Given the description of an element on the screen output the (x, y) to click on. 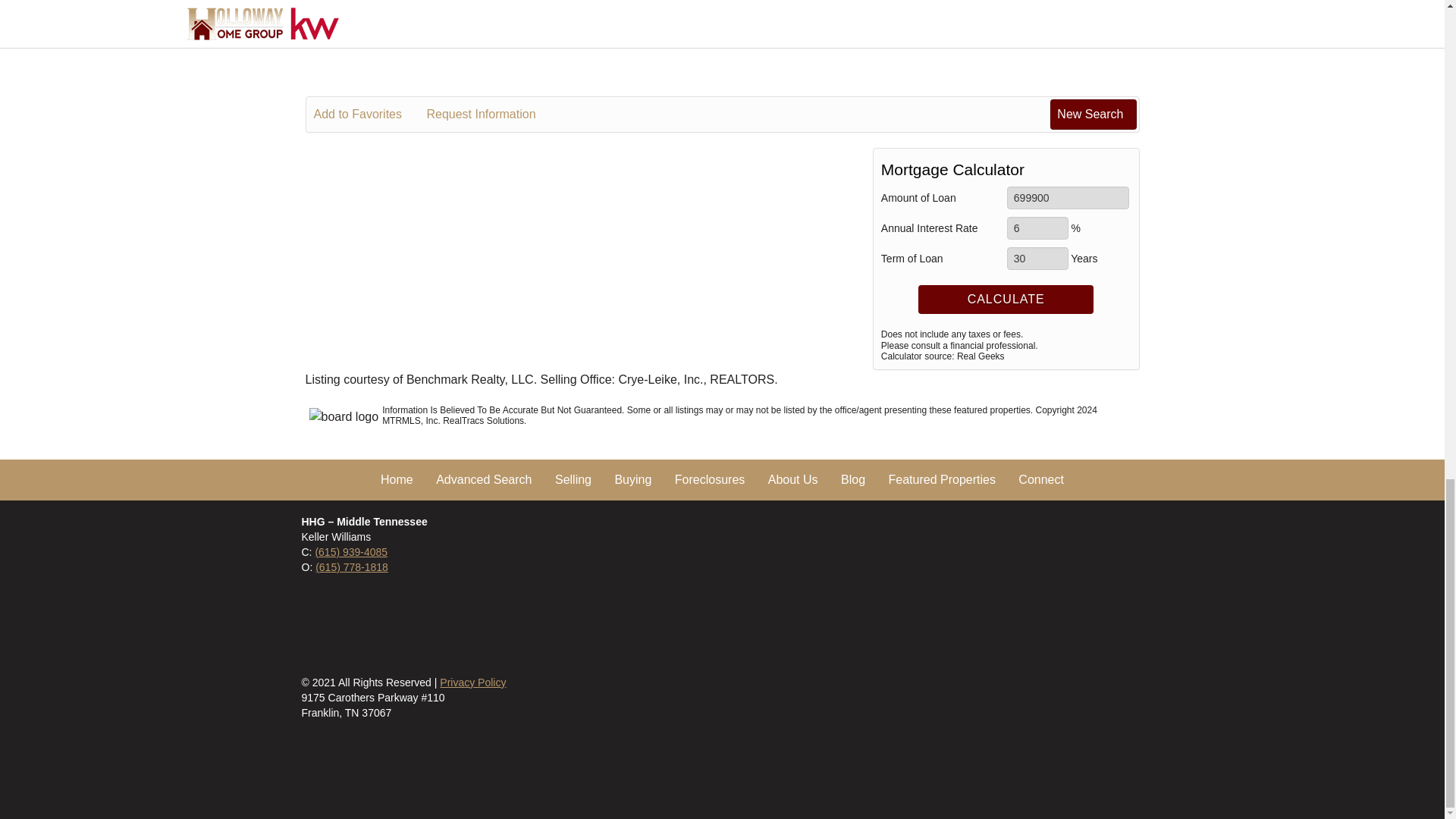
30 (1037, 258)
6 (1037, 228)
699900 (1068, 197)
